Given the description of an element on the screen output the (x, y) to click on. 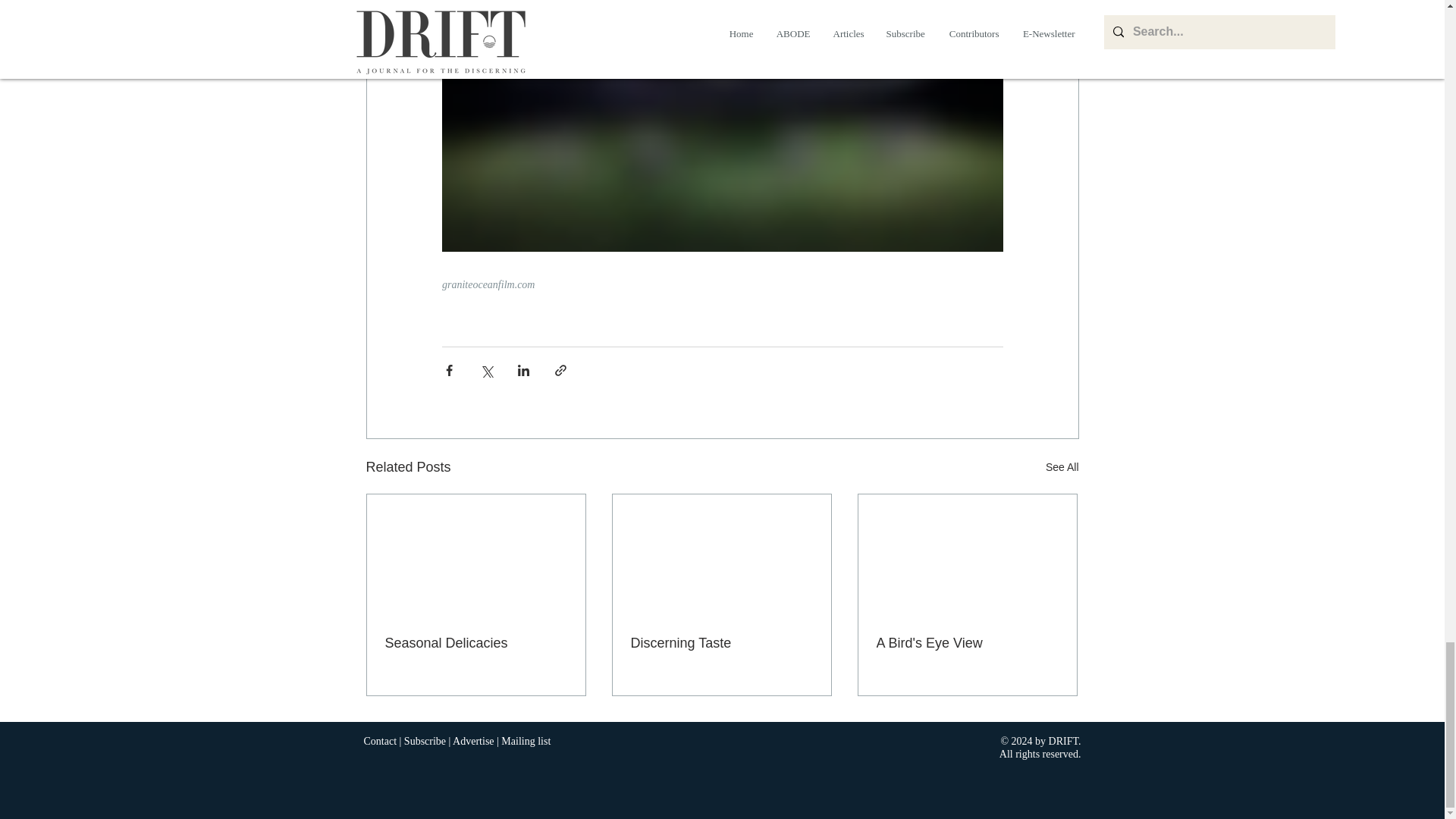
Subscribe (424, 740)
Advertise (472, 740)
Discerning Taste (721, 643)
See All (1061, 467)
Contact (380, 740)
graniteoceanfilm.com (487, 284)
A Bird's Eye View (967, 643)
Mailing list (525, 740)
Seasonal Delicacies (476, 643)
